Given the description of an element on the screen output the (x, y) to click on. 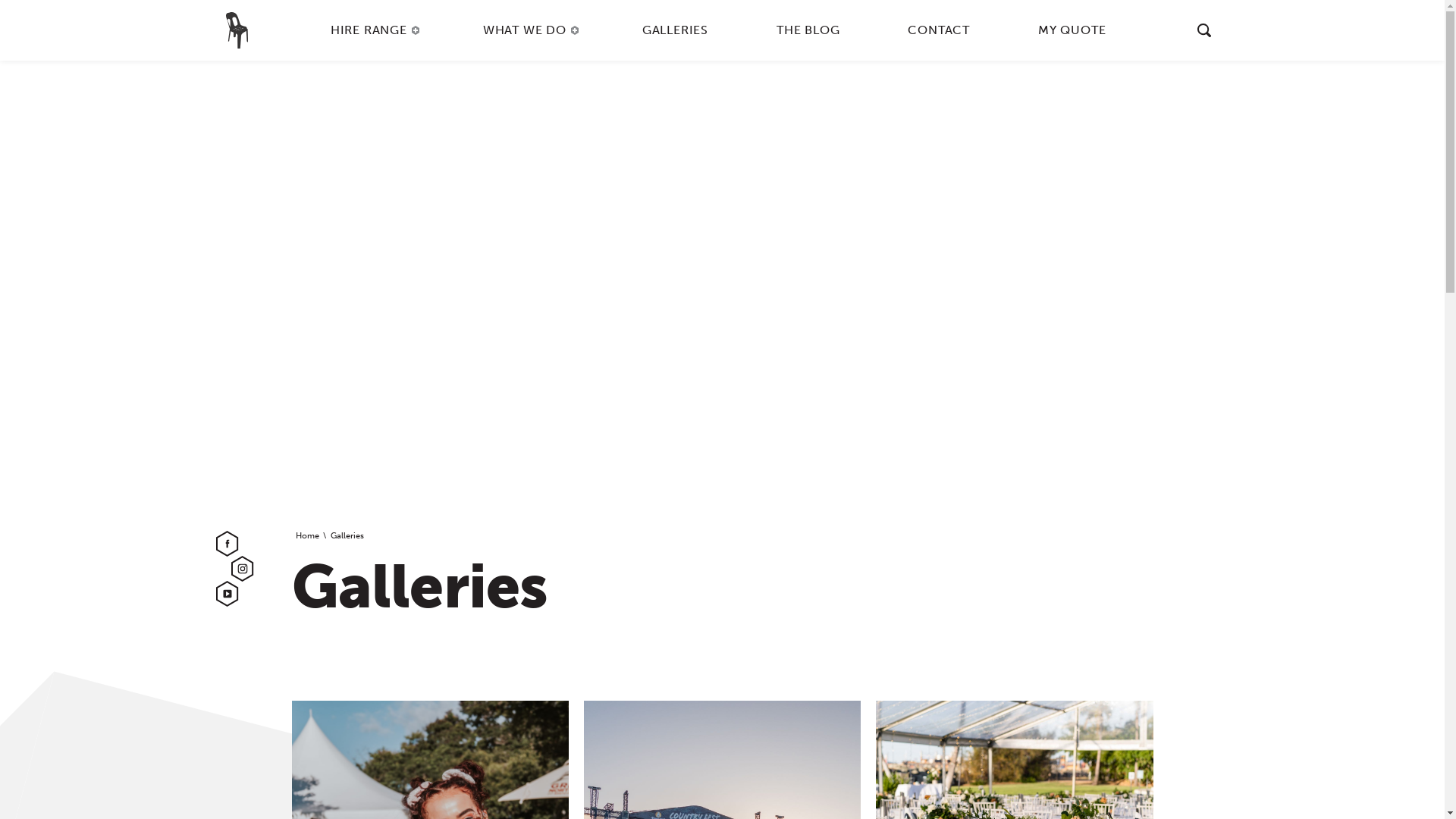
MY QUOTE Element type: text (1071, 30)
CONTACT Element type: text (938, 30)
HIRE RANGE Element type: text (372, 30)
WHAT WE DO Element type: text (528, 30)
GALLERIES Element type: text (675, 30)
THE BLOG Element type: text (807, 30)
Home Element type: text (307, 535)
